Given the description of an element on the screen output the (x, y) to click on. 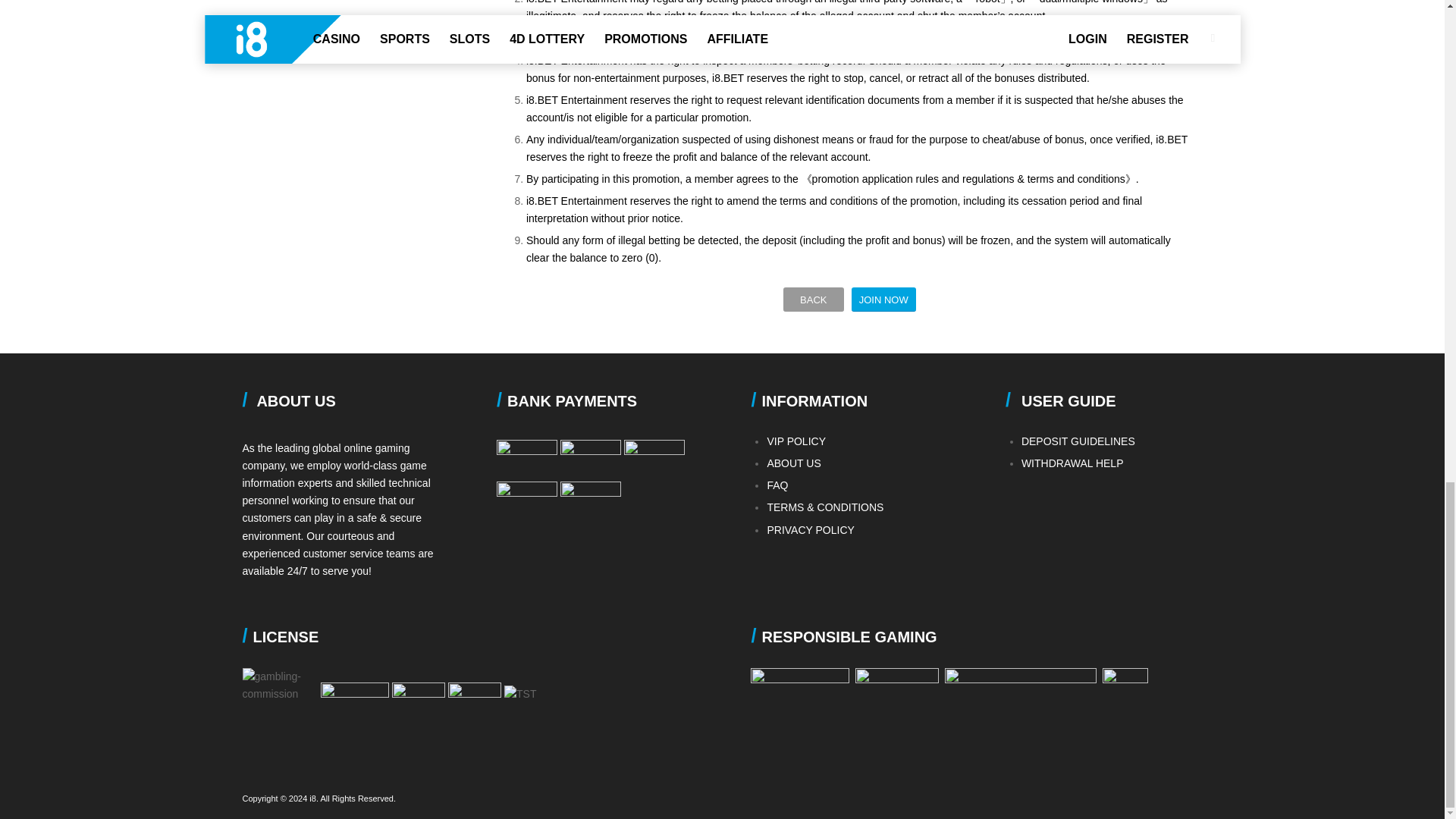
VIP POLICY (796, 440)
ABOUT US (794, 463)
BACK (813, 299)
FAQ (777, 485)
PRIVACY POLICY (810, 530)
WITHDRAWAL HELP (1073, 463)
DEPOSIT GUIDELINES (1078, 440)
JOIN NOW (883, 299)
